Given the description of an element on the screen output the (x, y) to click on. 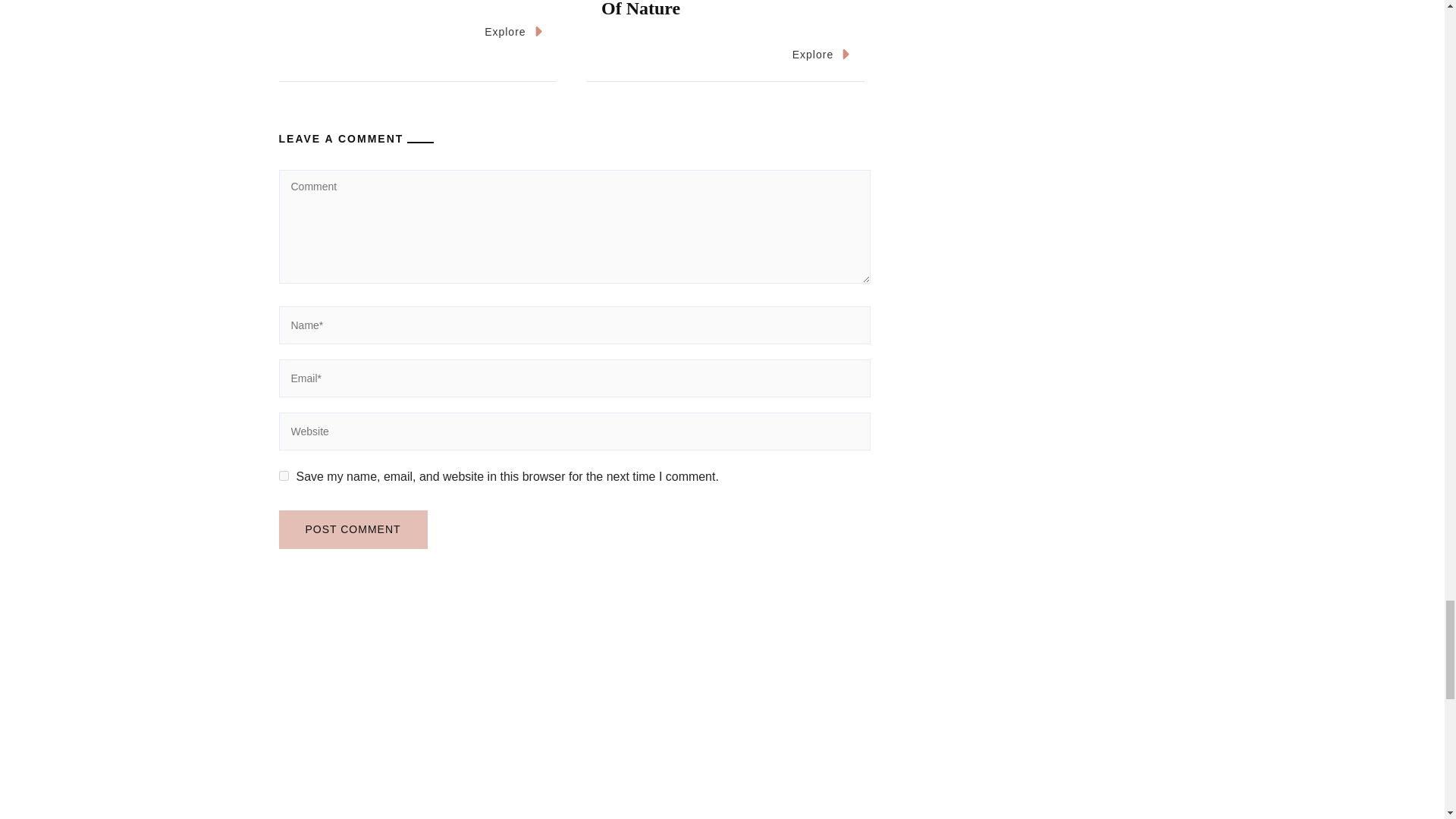
Post Comment (353, 529)
yes (283, 475)
